Given the description of an element on the screen output the (x, y) to click on. 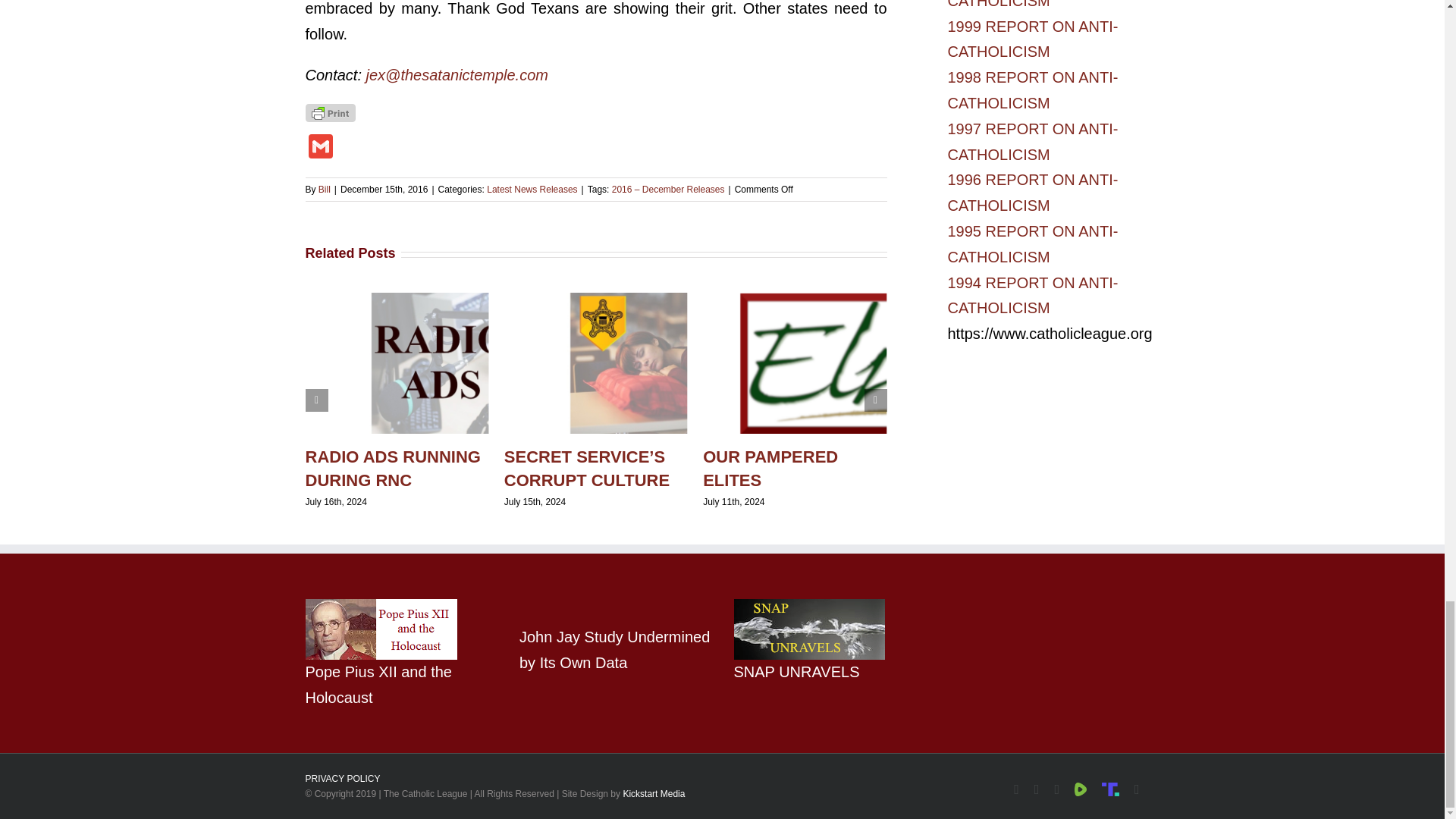
OUR PAMPERED ELITES (770, 468)
RADIO ADS RUNNING DURING RNC (392, 468)
Posts by Bill (324, 189)
Gmail (319, 148)
